Given the description of an element on the screen output the (x, y) to click on. 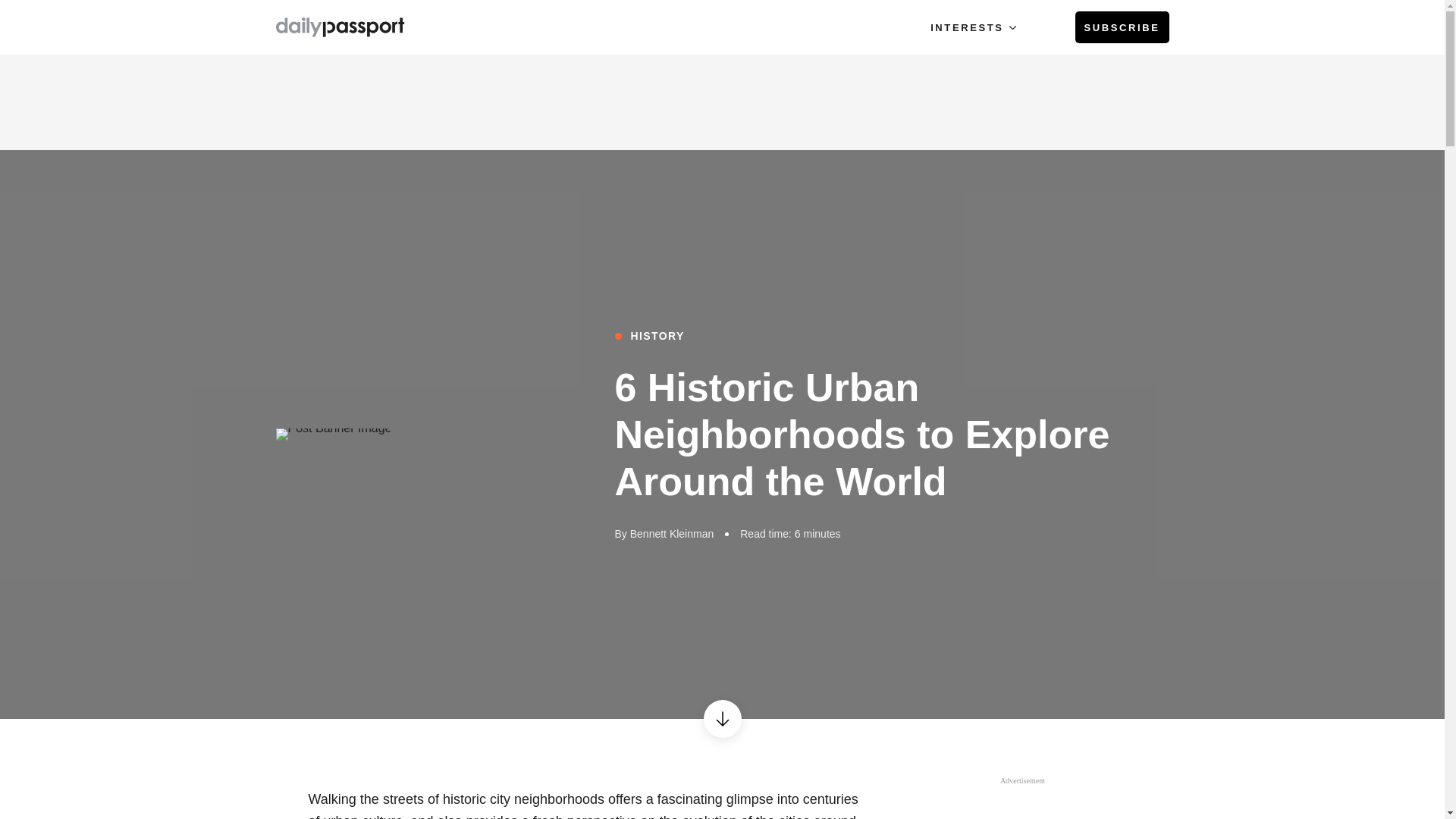
SEARCH (1045, 27)
INTERESTS (972, 27)
SUBSCRIBE (1122, 27)
